Given the description of an element on the screen output the (x, y) to click on. 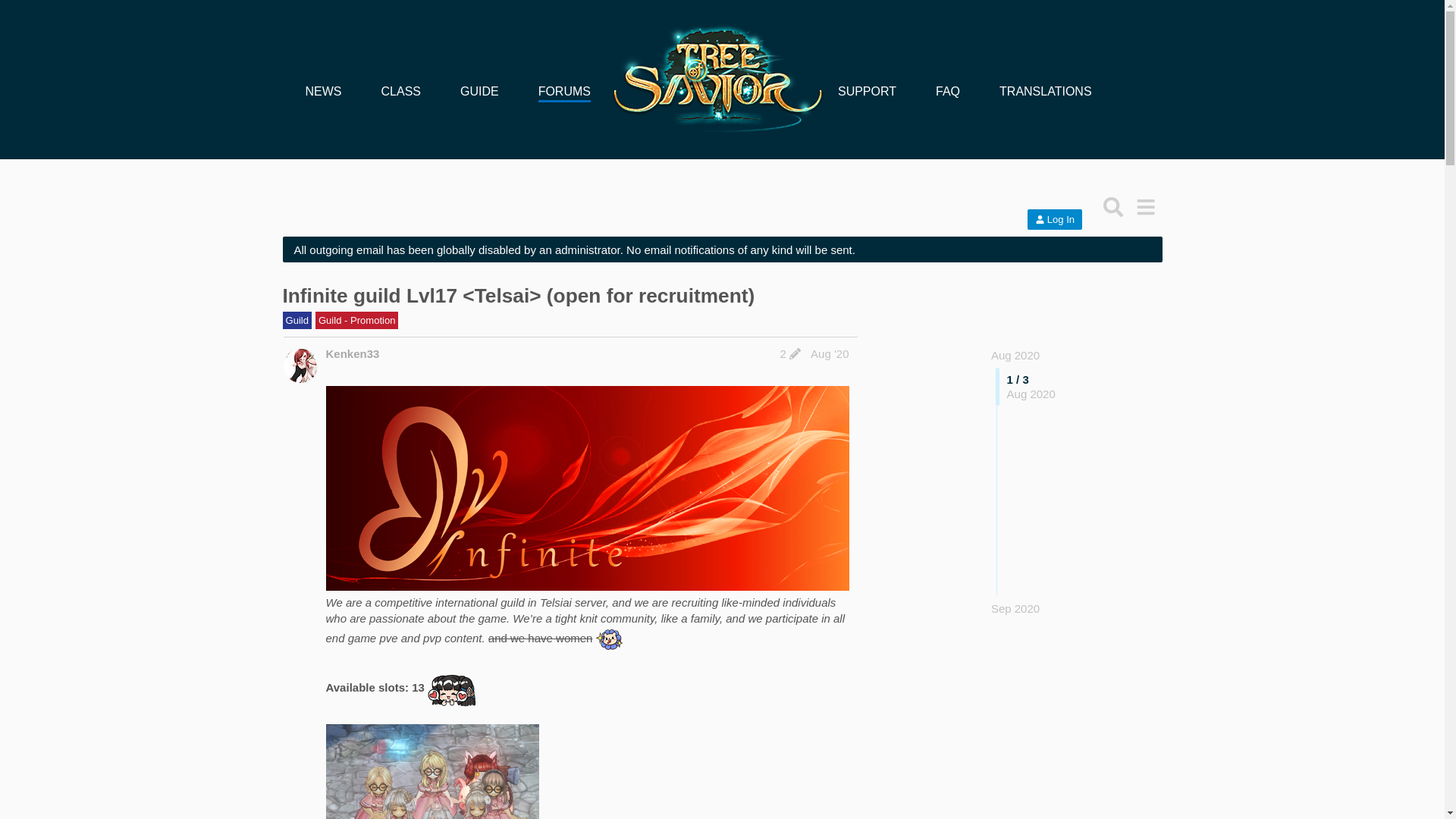
Sep 2020 (1015, 608)
CLASS (400, 91)
Promote ye guild here. (357, 319)
Sep 2020 (1015, 608)
Guild (296, 320)
Guild - Promotion (356, 320)
FORUMS (564, 91)
search topics, posts, users, or categories (1113, 206)
Aug '20 (829, 353)
FAQ (947, 91)
